Given the description of an element on the screen output the (x, y) to click on. 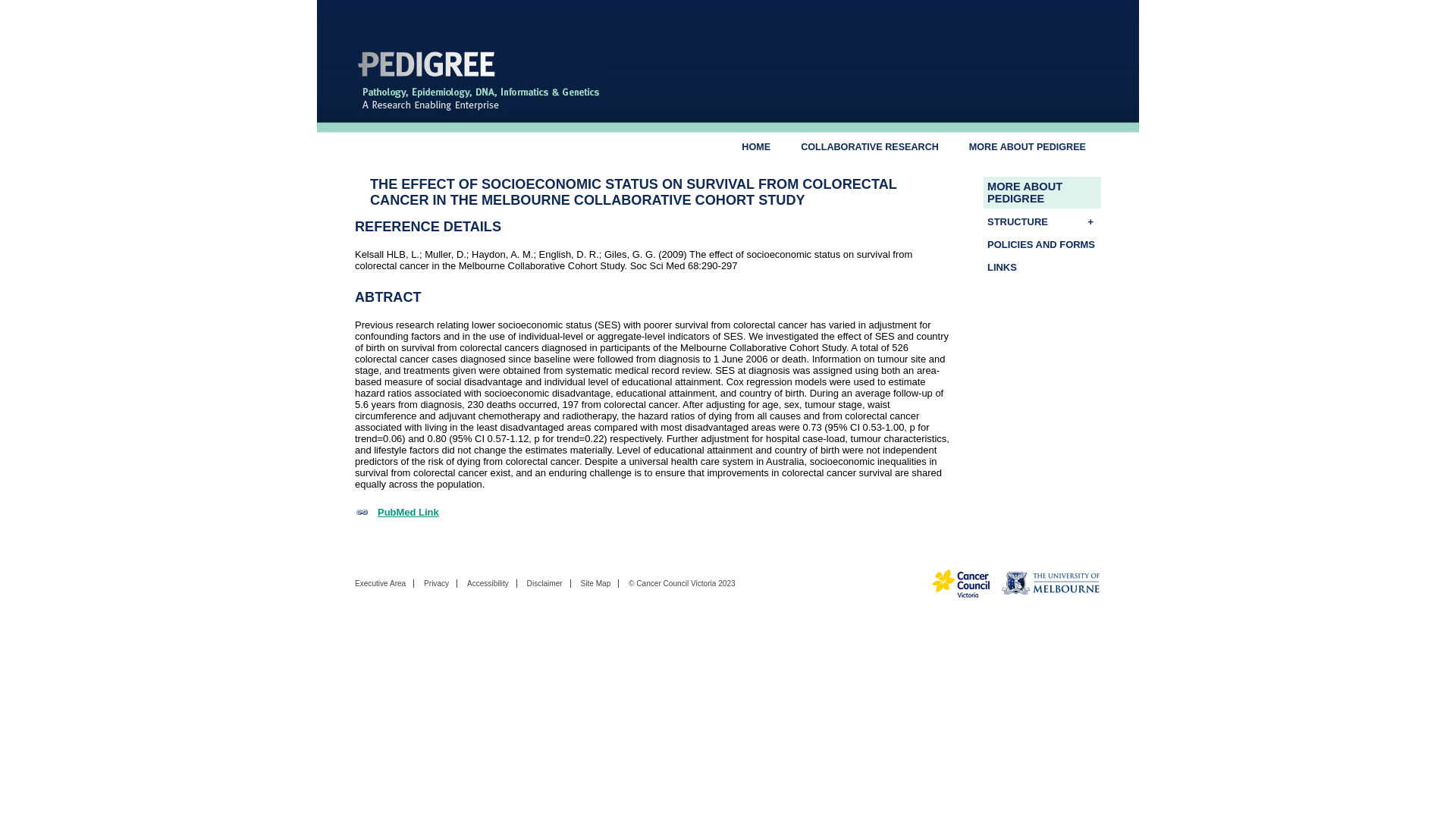
Executive Area (380, 583)
Accessibility (487, 583)
Cancer Council Victoria (676, 583)
HOME (756, 146)
Site Map (594, 583)
LINKS (1042, 266)
Privacy (435, 583)
COLLABORATIVE RESEARCH (869, 146)
Disclaimer (544, 583)
PubMed Link (397, 511)
POLICIES AND FORMS (1042, 244)
Return to the home page (480, 110)
MORE ABOUT PEDIGREE (1026, 146)
MORE ABOUT PEDIGREE (1042, 192)
